Given the description of an element on the screen output the (x, y) to click on. 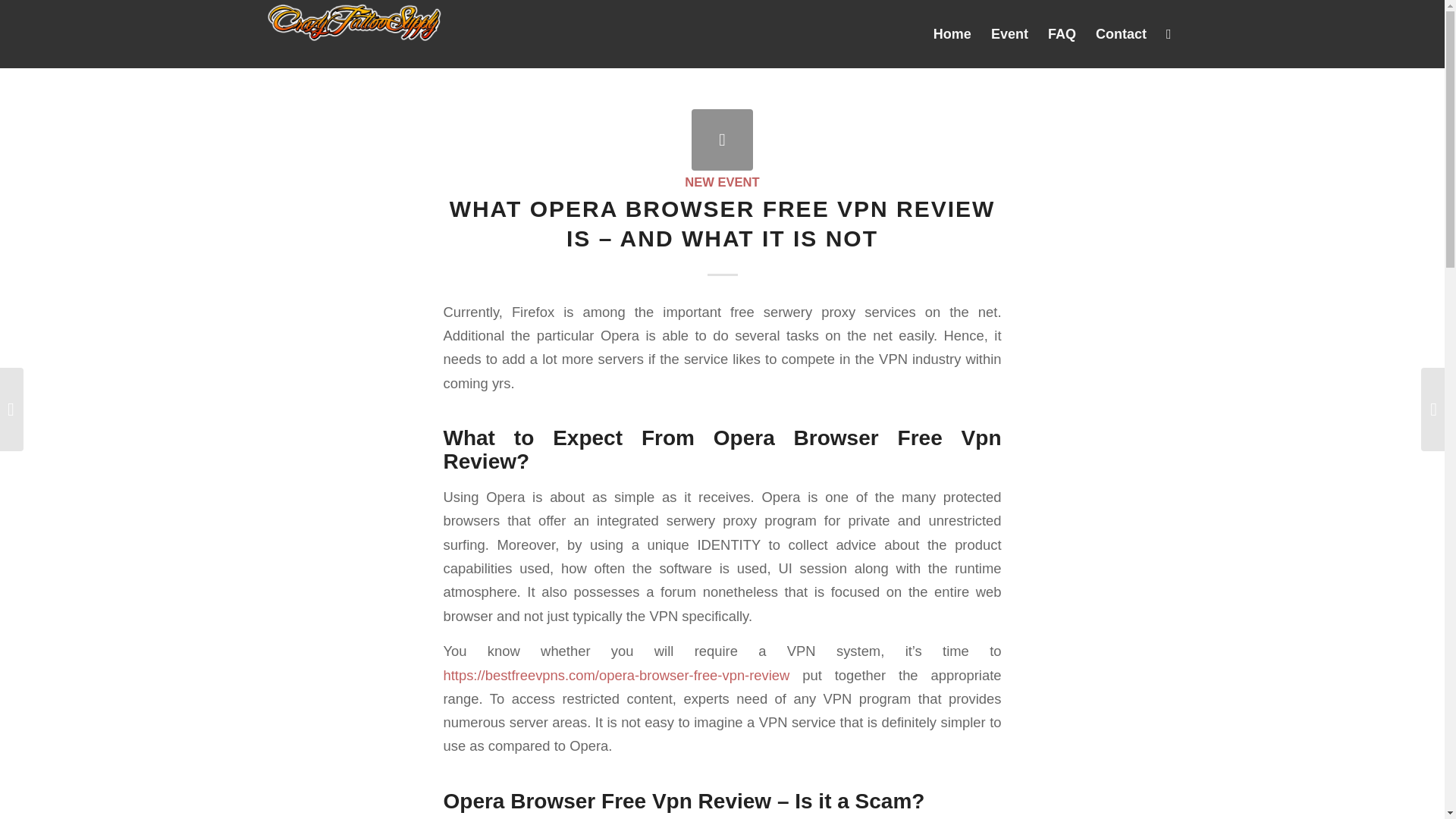
NEW EVENT (721, 182)
Contact (1121, 33)
What Opera Browser Free Vpn Review Is - and What it Is Not (721, 139)
